Given the description of an element on the screen output the (x, y) to click on. 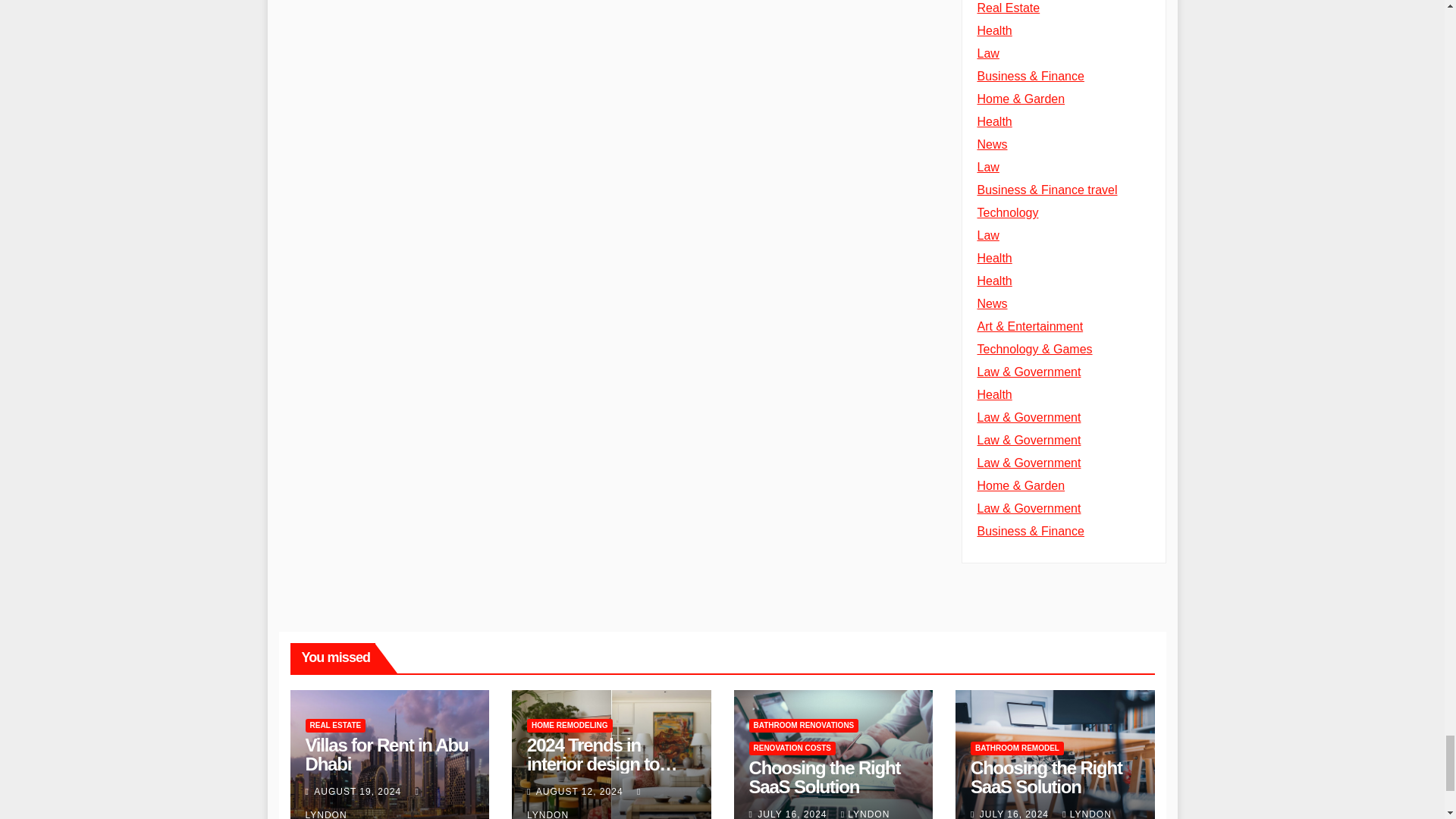
Permalink to: Villas for Rent in Abu Dhabi (385, 753)
Permalink to: 2024 Trends in interior design to know (602, 763)
Permalink to: Choosing the Right SaaS Solution (825, 776)
Permalink to: Choosing the Right SaaS Solution (1046, 776)
